Given the description of an element on the screen output the (x, y) to click on. 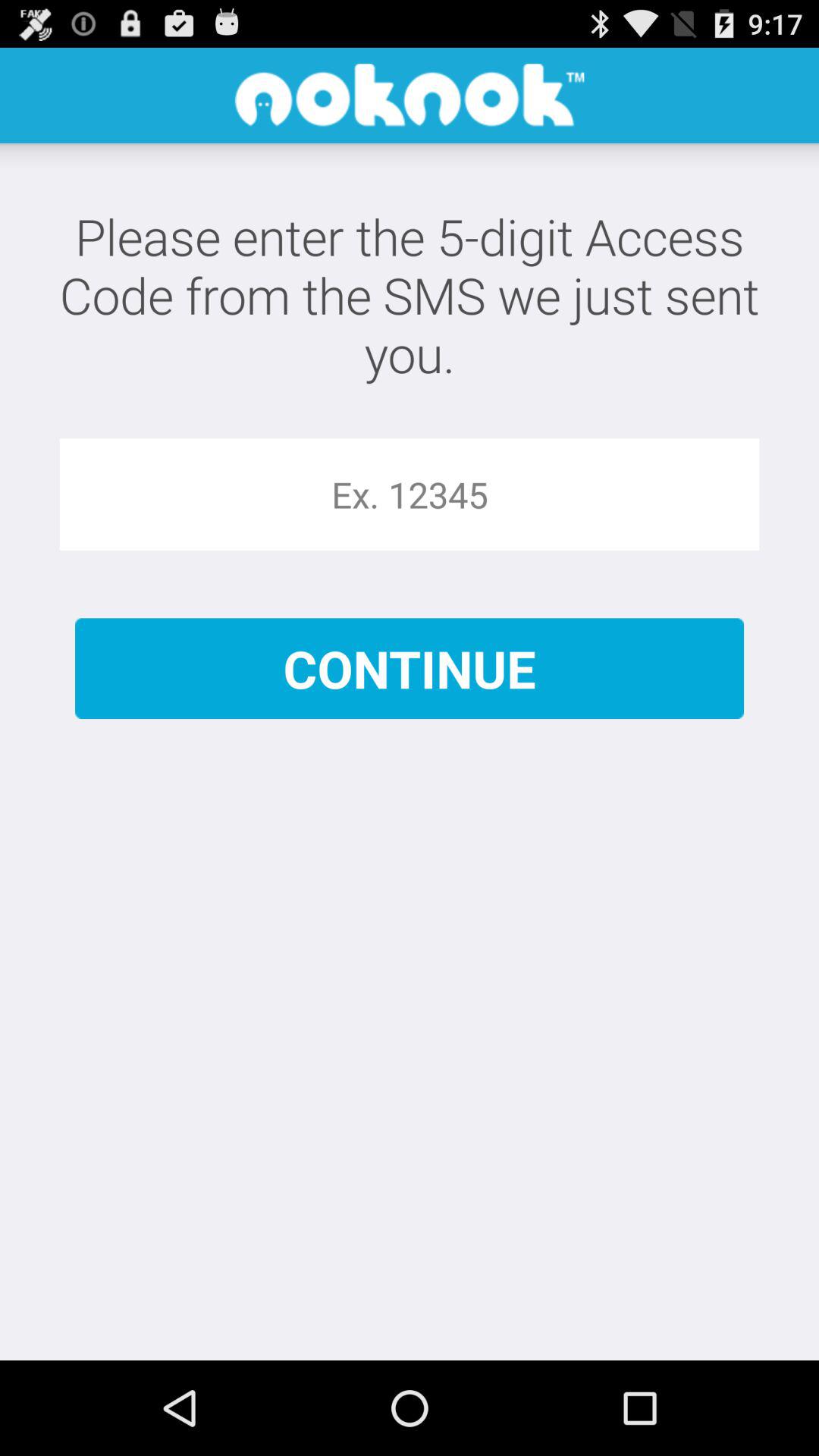
swipe to the continue icon (409, 668)
